Given the description of an element on the screen output the (x, y) to click on. 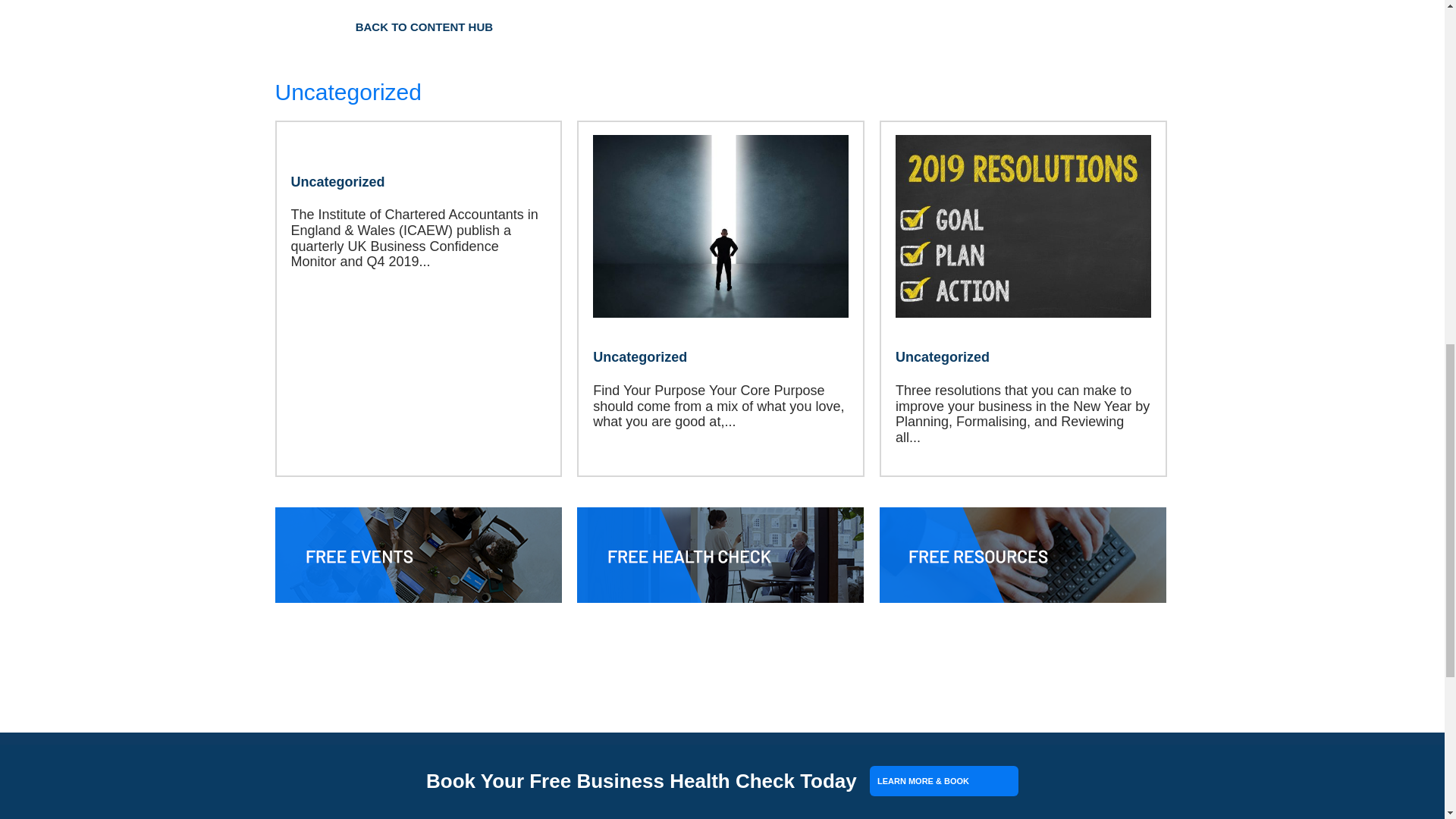
BACK TO CONTENT HUB (424, 26)
